Given the description of an element on the screen output the (x, y) to click on. 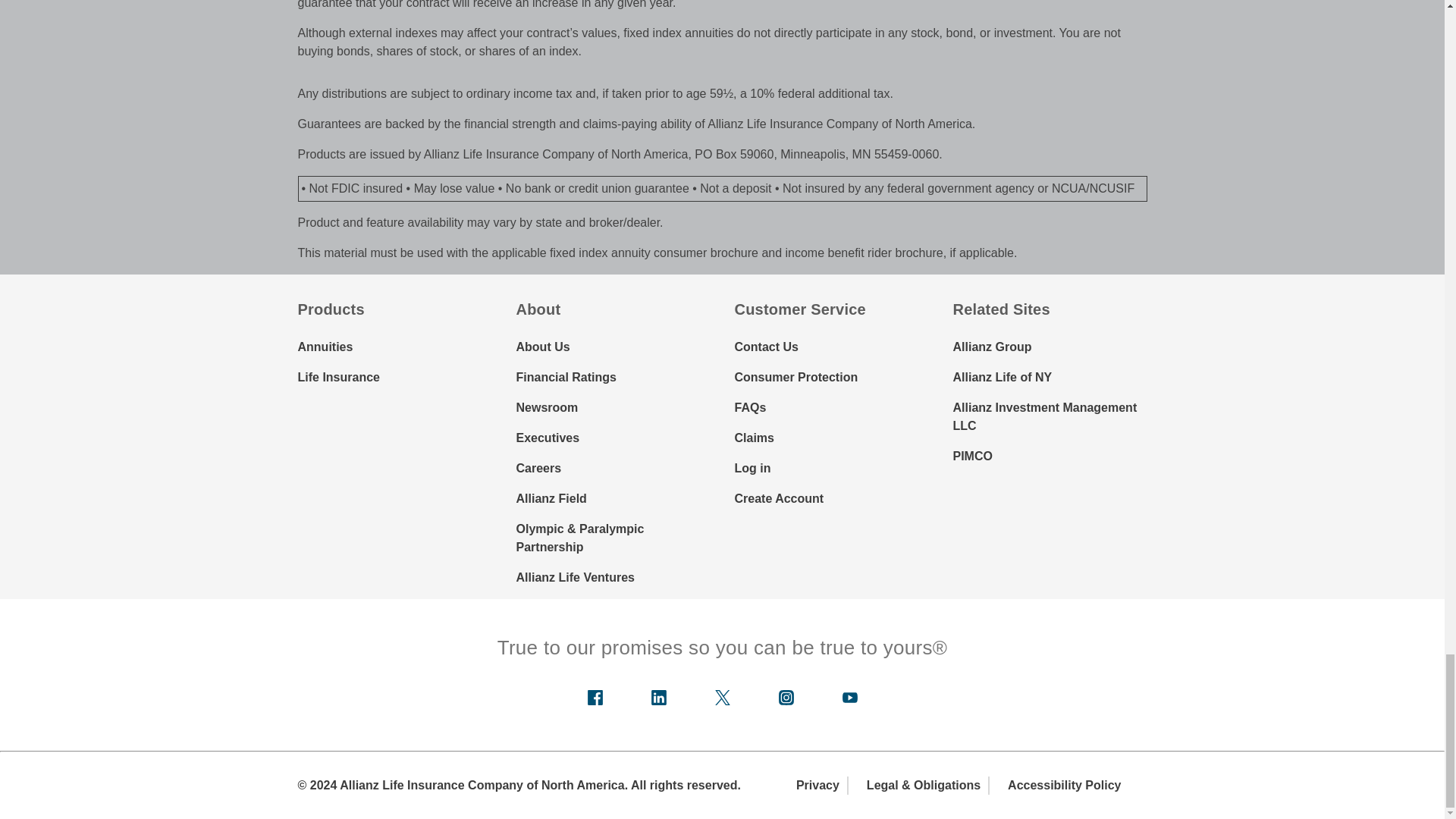
InstagramDescribe me please (785, 697)
YoutubeDescribe me please (849, 697)
XDescribe me please (721, 697)
LinkedInDescribe me please (657, 697)
FacebookDescribe me please (594, 697)
